Given the description of an element on the screen output the (x, y) to click on. 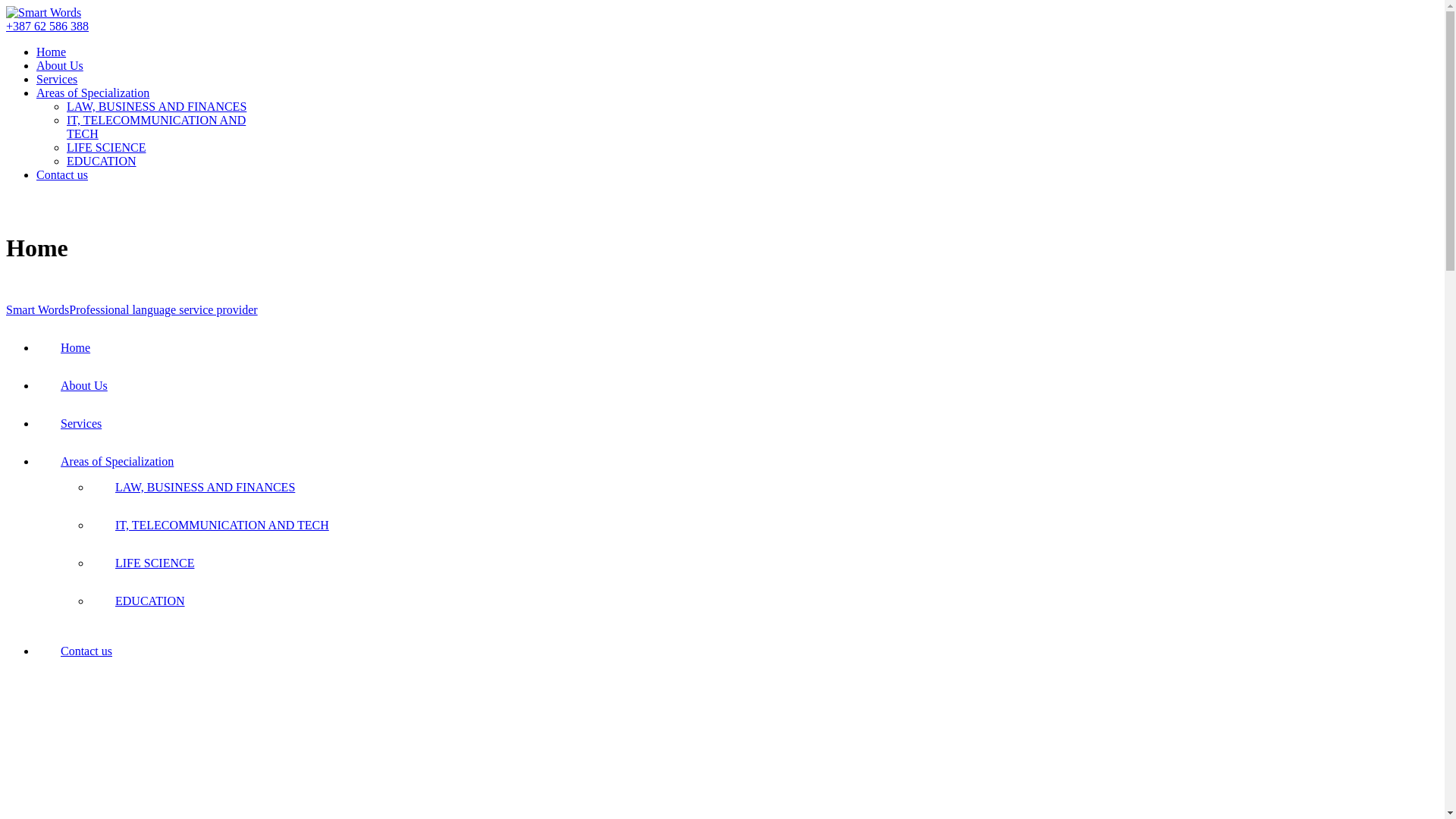
Contact us Element type: text (61, 174)
Areas of Specialization Element type: text (92, 92)
Smart WordsProfessional language service provider Element type: text (131, 309)
Contact us Element type: text (86, 650)
Areas of Specialization Element type: text (116, 461)
EDUCATION Element type: text (101, 160)
IT, TELECOMMUNICATION AND TECH Element type: text (155, 126)
IT, TELECOMMUNICATION AND TECH Element type: text (222, 524)
Services Element type: text (56, 78)
About Us Element type: text (83, 385)
LAW, BUSINESS AND FINANCES Element type: text (204, 486)
Home Element type: text (50, 51)
Home Element type: text (75, 347)
Services Element type: text (80, 423)
EDUCATION Element type: text (150, 600)
LIFE SCIENCE Element type: text (105, 147)
LIFE SCIENCE Element type: text (154, 562)
About Us Element type: text (59, 65)
+387 62 586 388 Element type: text (47, 25)
LAW, BUSINESS AND FINANCES Element type: text (156, 106)
